Given the description of an element on the screen output the (x, y) to click on. 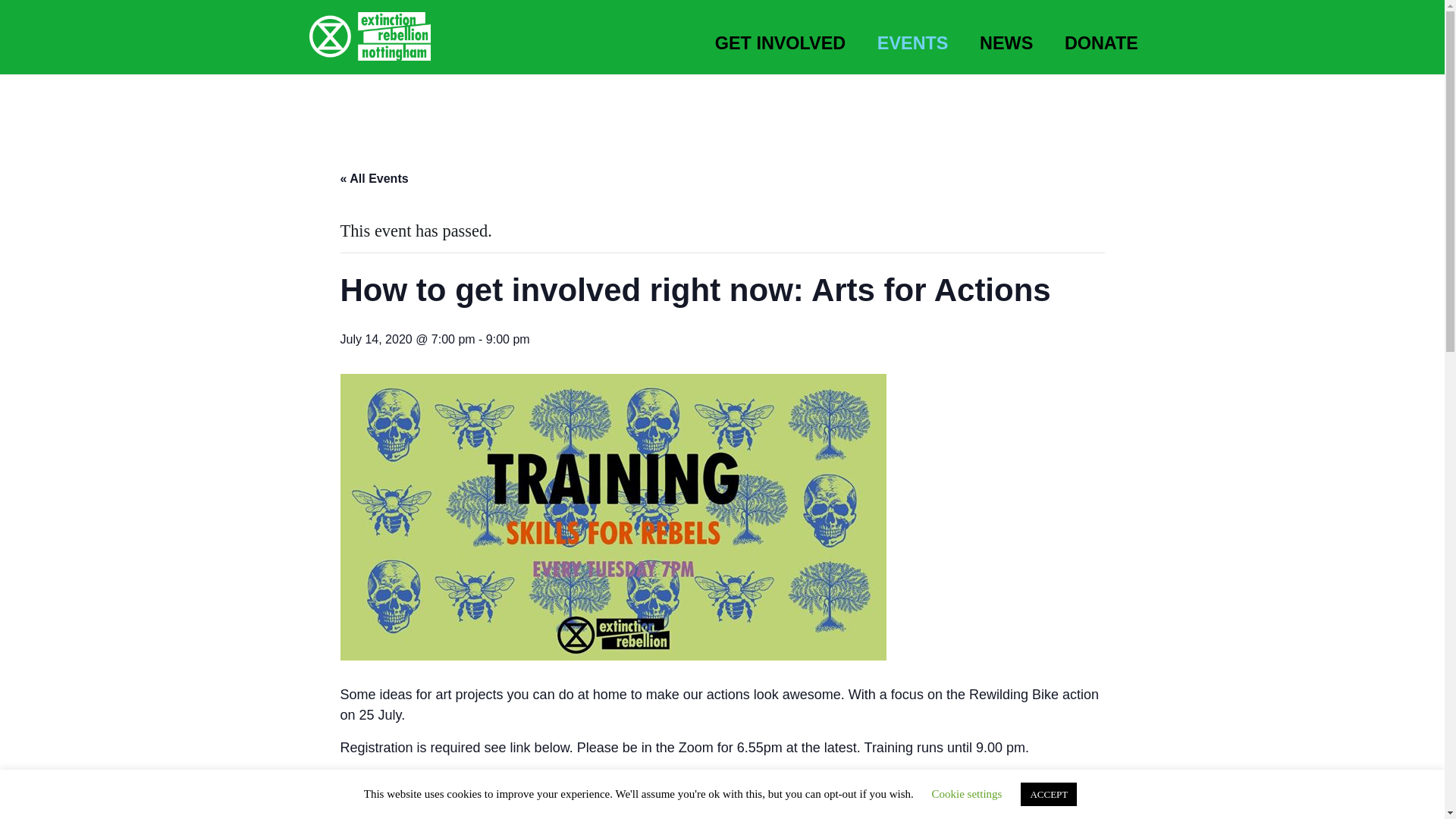
Cookie settings (967, 793)
EVENTS (913, 38)
EXTINCTION REBELLION NOTTINGHAM (394, 113)
DONATE (1101, 38)
NEWS (1005, 38)
ACCEPT (1048, 793)
GET INVOLVED (779, 38)
